Given the description of an element on the screen output the (x, y) to click on. 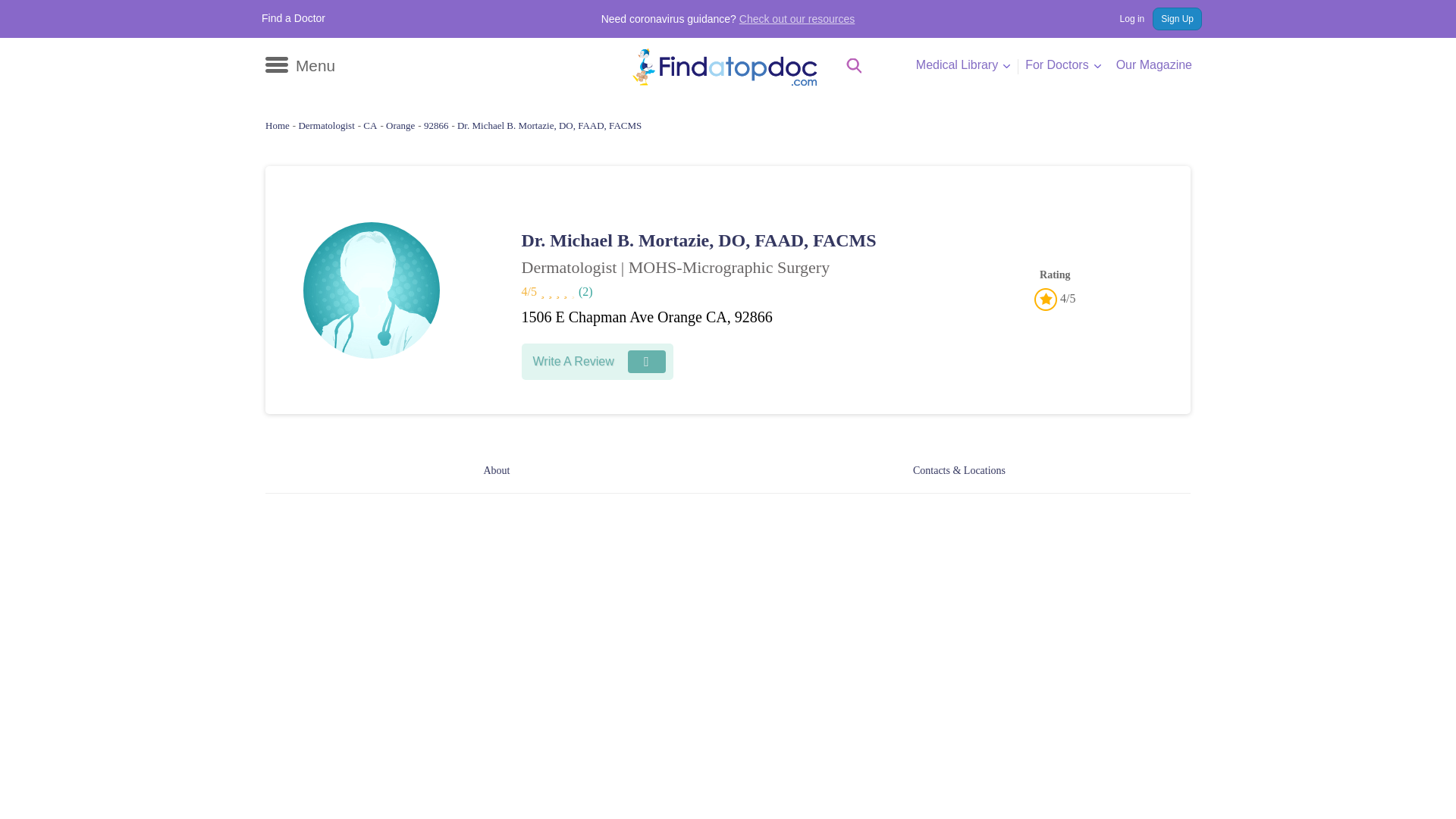
Sign Up (1177, 18)
Menu (299, 65)
Find a Doctor (293, 17)
Log in (1124, 18)
Log in (1124, 18)
Check out our resources (797, 19)
Sign Up (1177, 18)
